Given the description of an element on the screen output the (x, y) to click on. 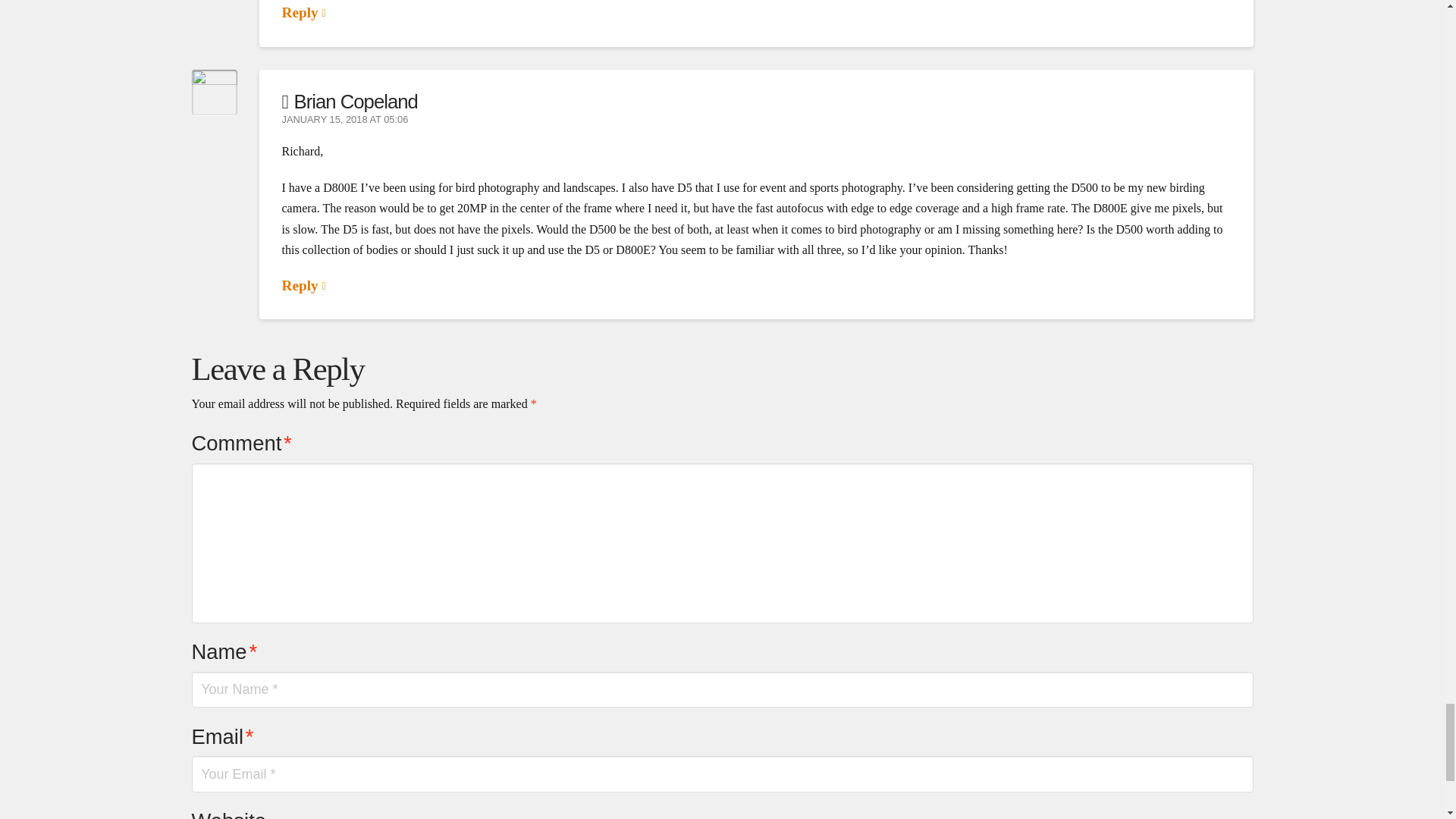
Reply (304, 285)
JANUARY 15, 2018 AT 05:06 (345, 119)
Reply (304, 12)
